Given the description of an element on the screen output the (x, y) to click on. 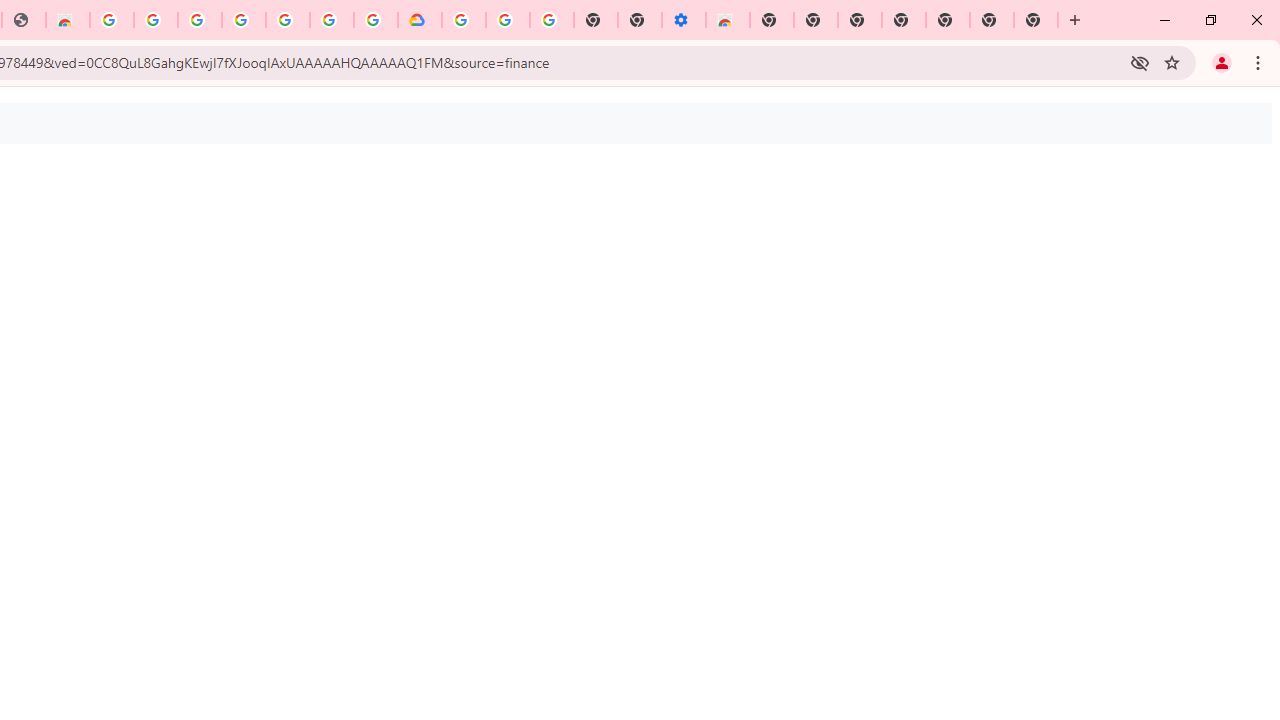
Sign in - Google Accounts (331, 20)
Settings - Accessibility (683, 20)
Turn cookies on or off - Computer - Google Account Help (551, 20)
